Given the description of an element on the screen output the (x, y) to click on. 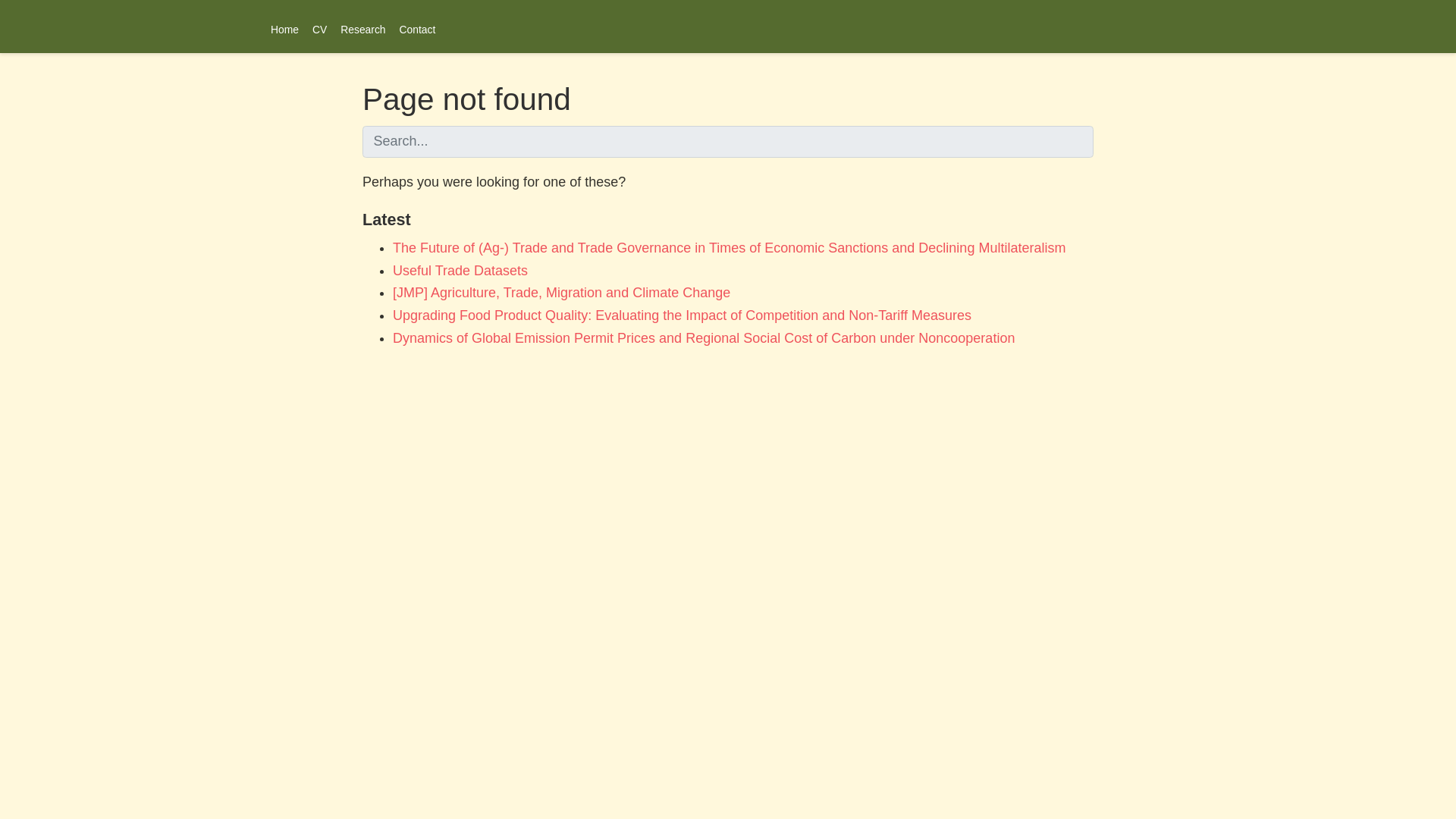
CV (319, 25)
Useful Trade Datasets (460, 270)
Research (362, 25)
Home (284, 25)
Contact (417, 25)
